Given the description of an element on the screen output the (x, y) to click on. 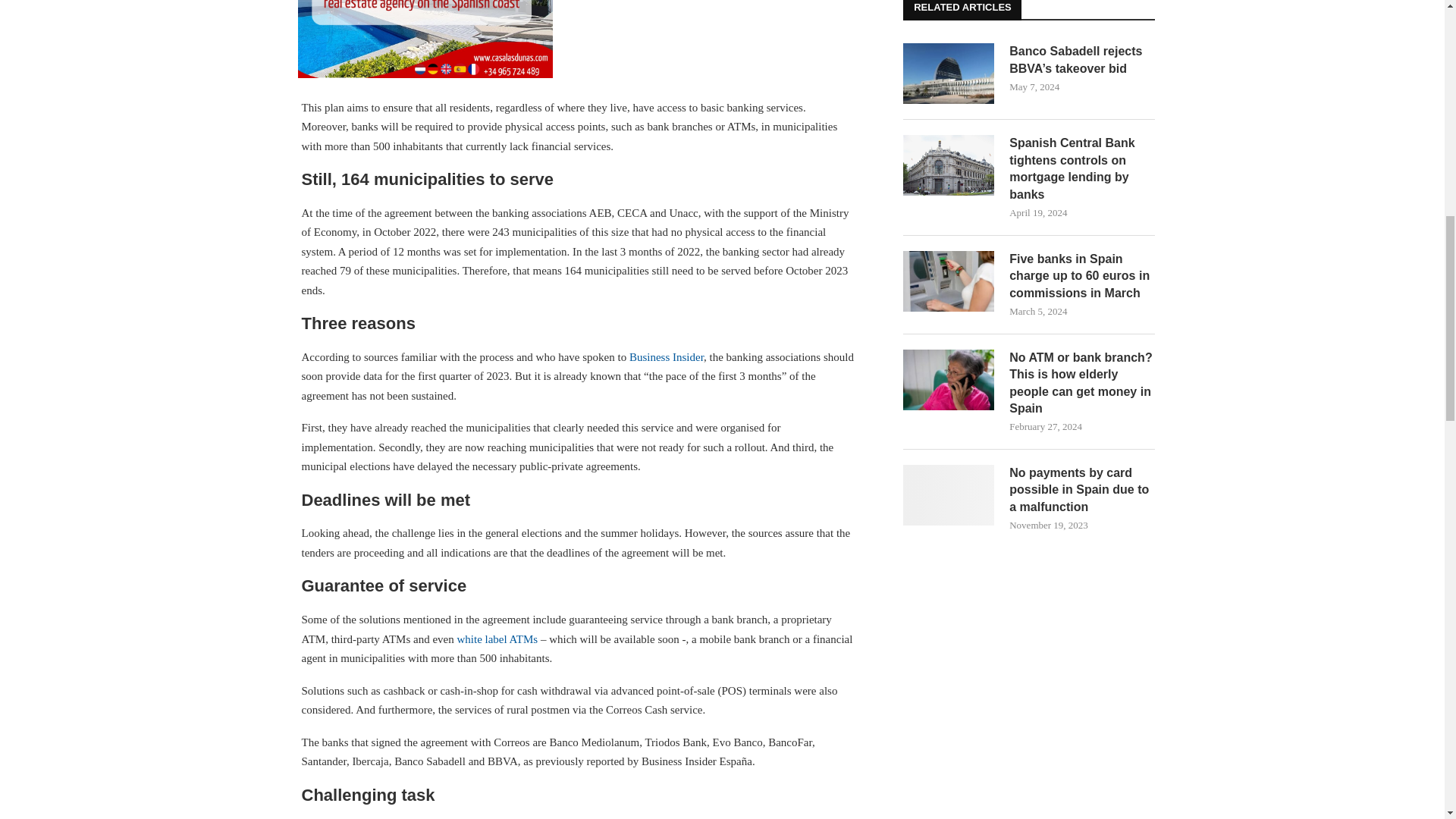
Business Insider (665, 357)
white label ATMs (497, 639)
